Given the description of an element on the screen output the (x, y) to click on. 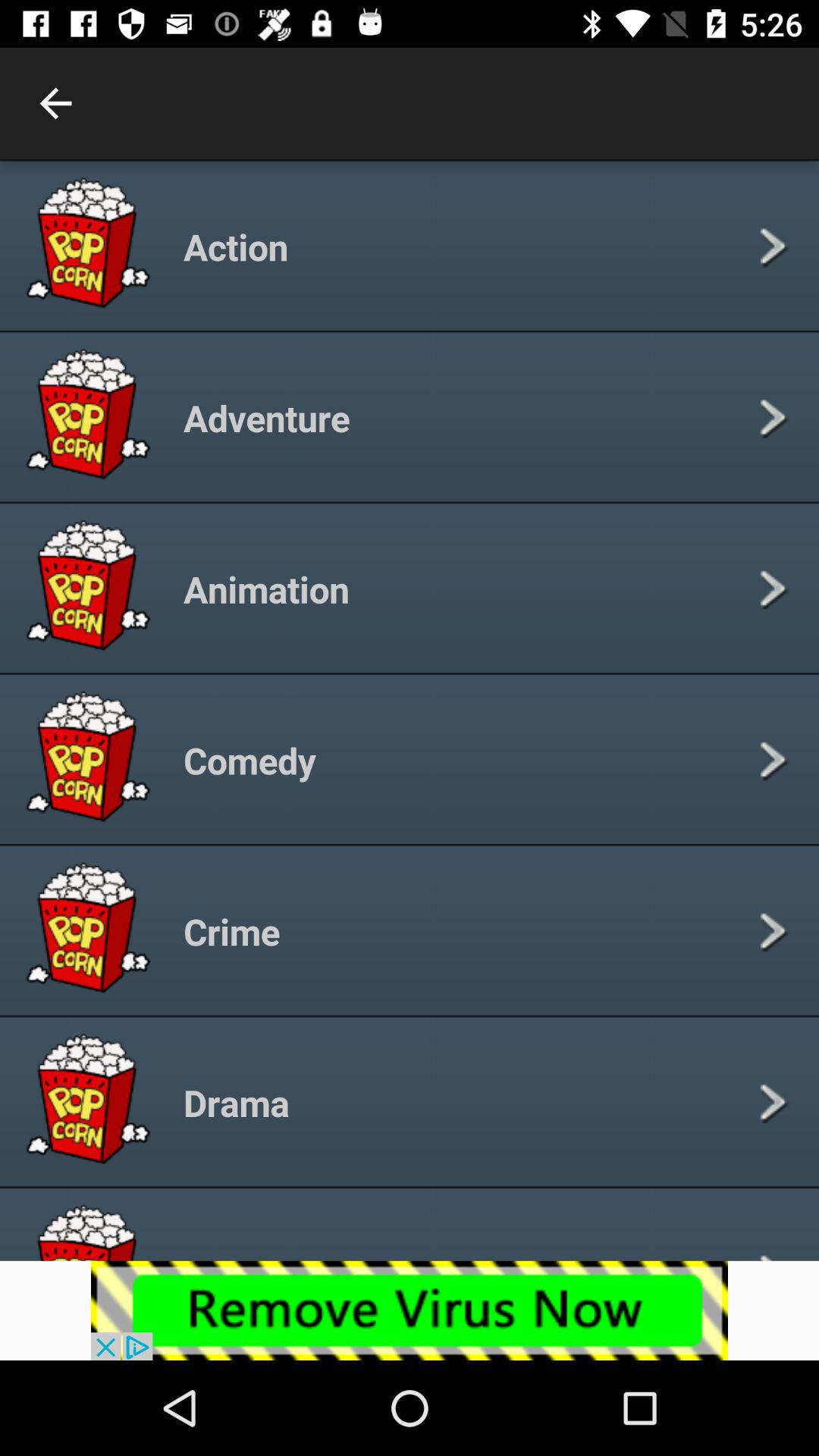
advertisement (409, 1310)
